Given the description of an element on the screen output the (x, y) to click on. 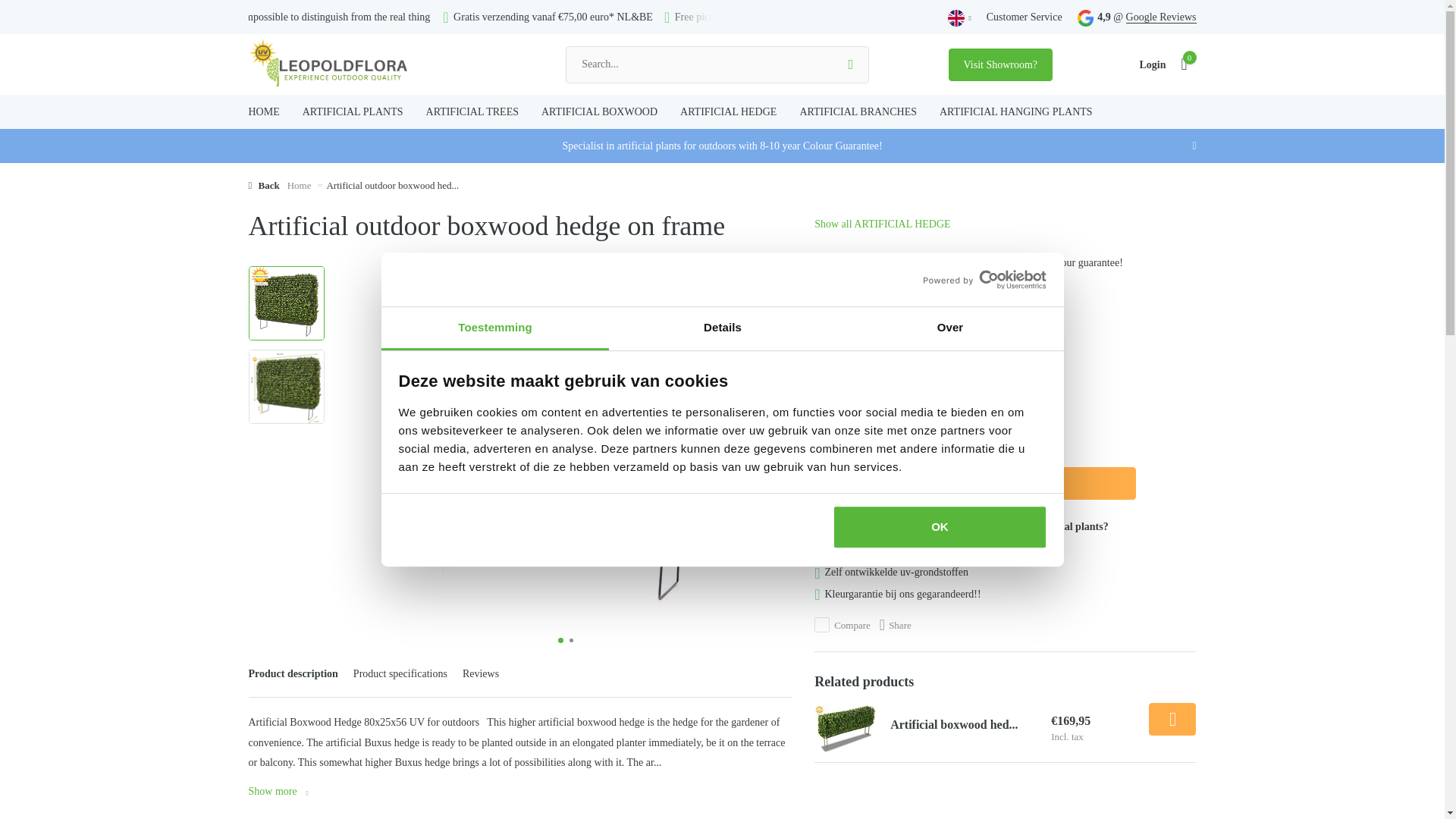
Artificial outdoor boxwood hedge on frame (285, 386)
Details (721, 328)
Toestemming (494, 328)
Over (948, 328)
Artificial outdoor boxwood hedge on frame (285, 302)
1 (832, 483)
Artificial boxwood hedge 35x80 UV (846, 728)
Search (851, 64)
OK (939, 526)
